Given the description of an element on the screen output the (x, y) to click on. 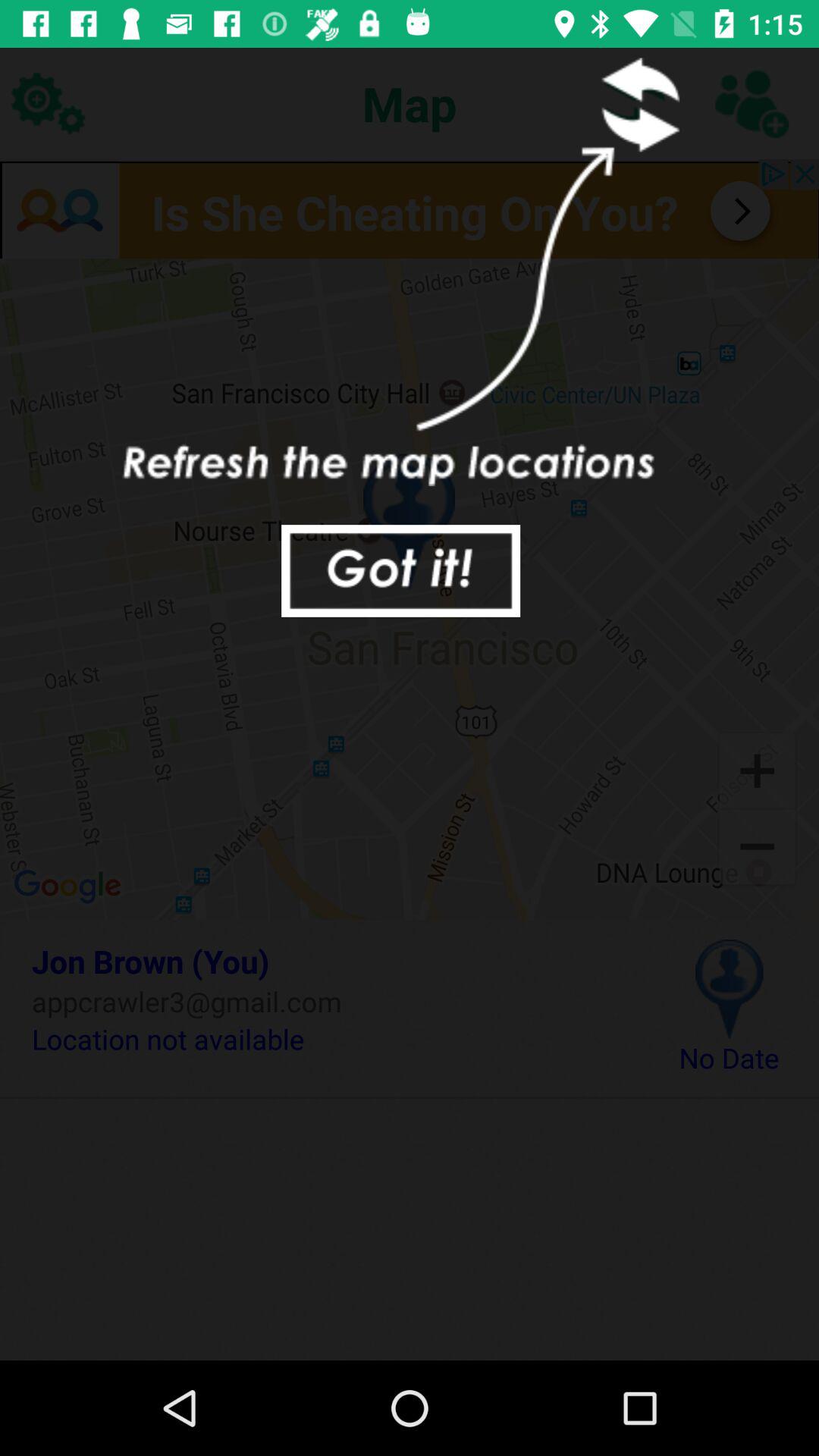
open settings (47, 103)
